Given the description of an element on the screen output the (x, y) to click on. 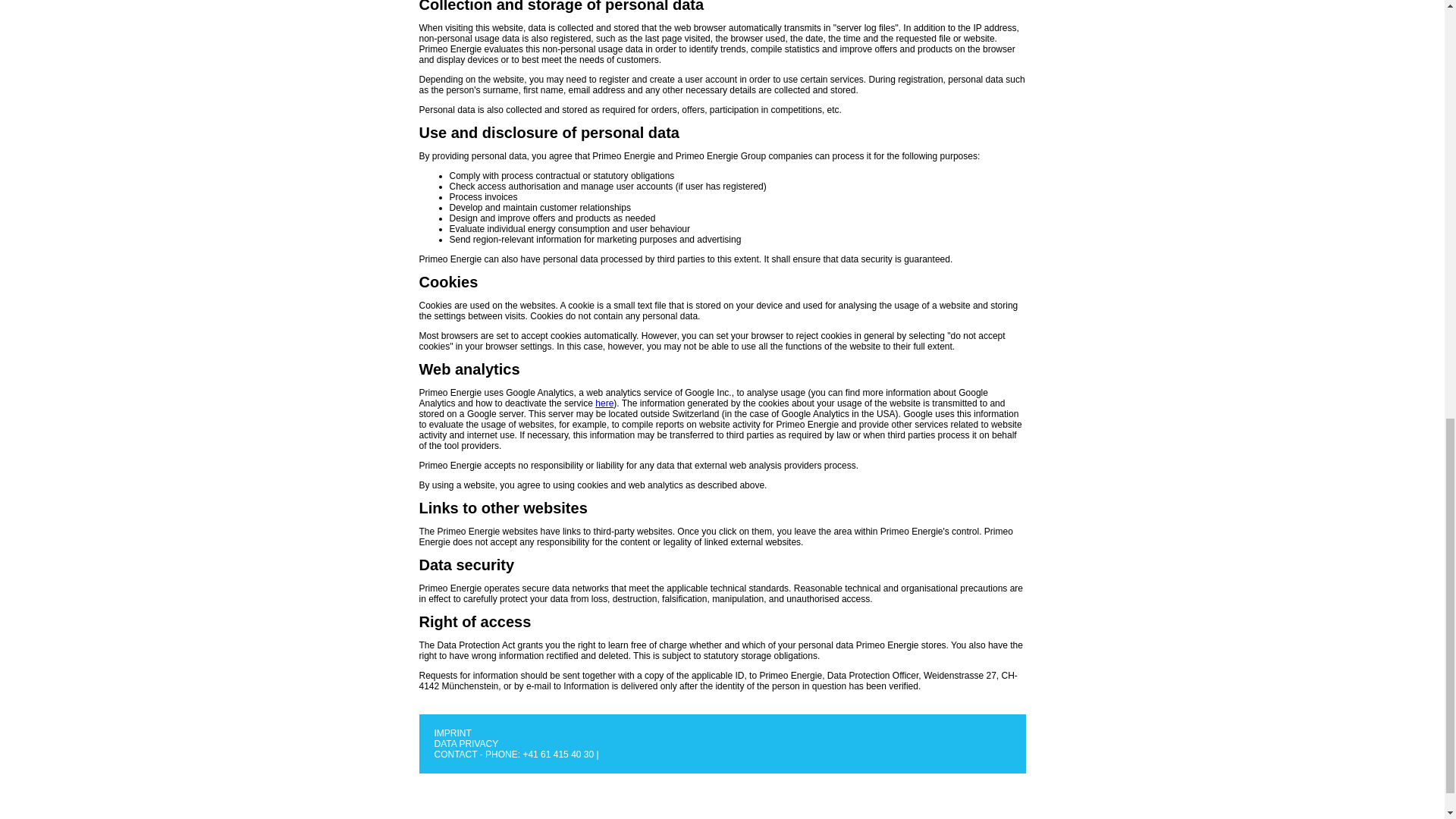
IMPRINT (451, 733)
DATA PRIVACY (465, 743)
here (603, 403)
